Given the description of an element on the screen output the (x, y) to click on. 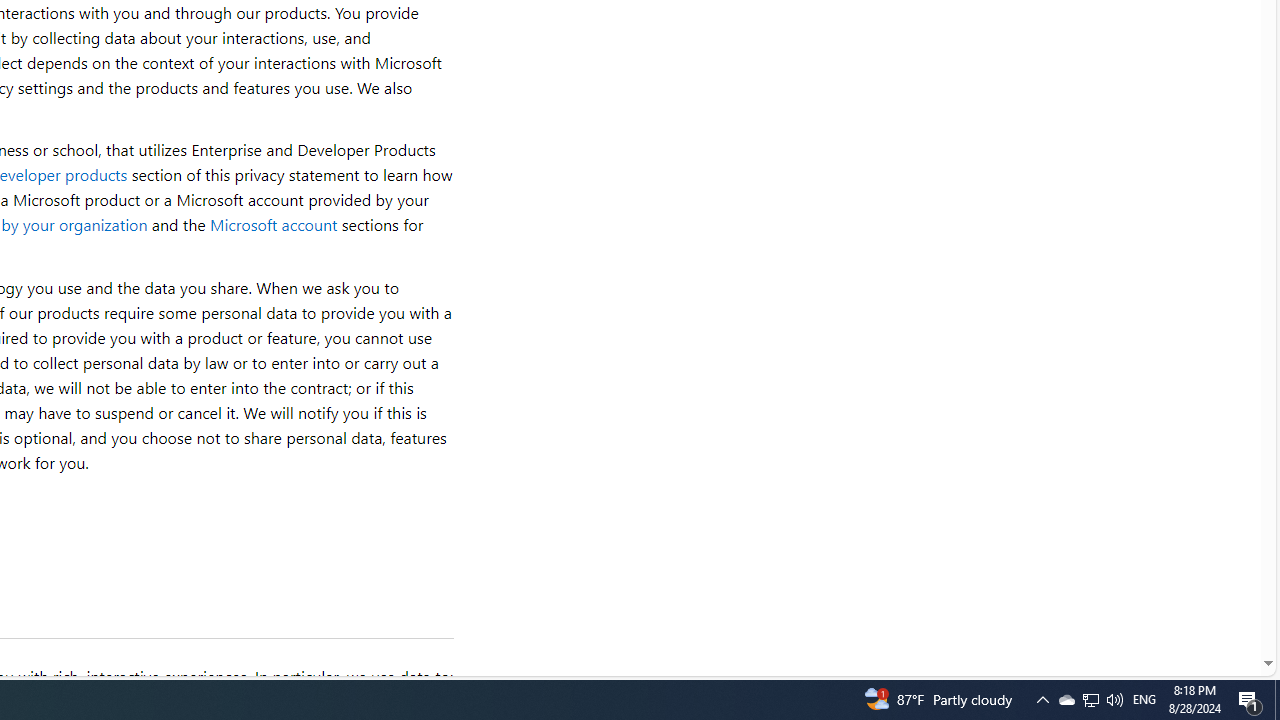
Microsoft account (273, 224)
